Given the description of an element on the screen output the (x, y) to click on. 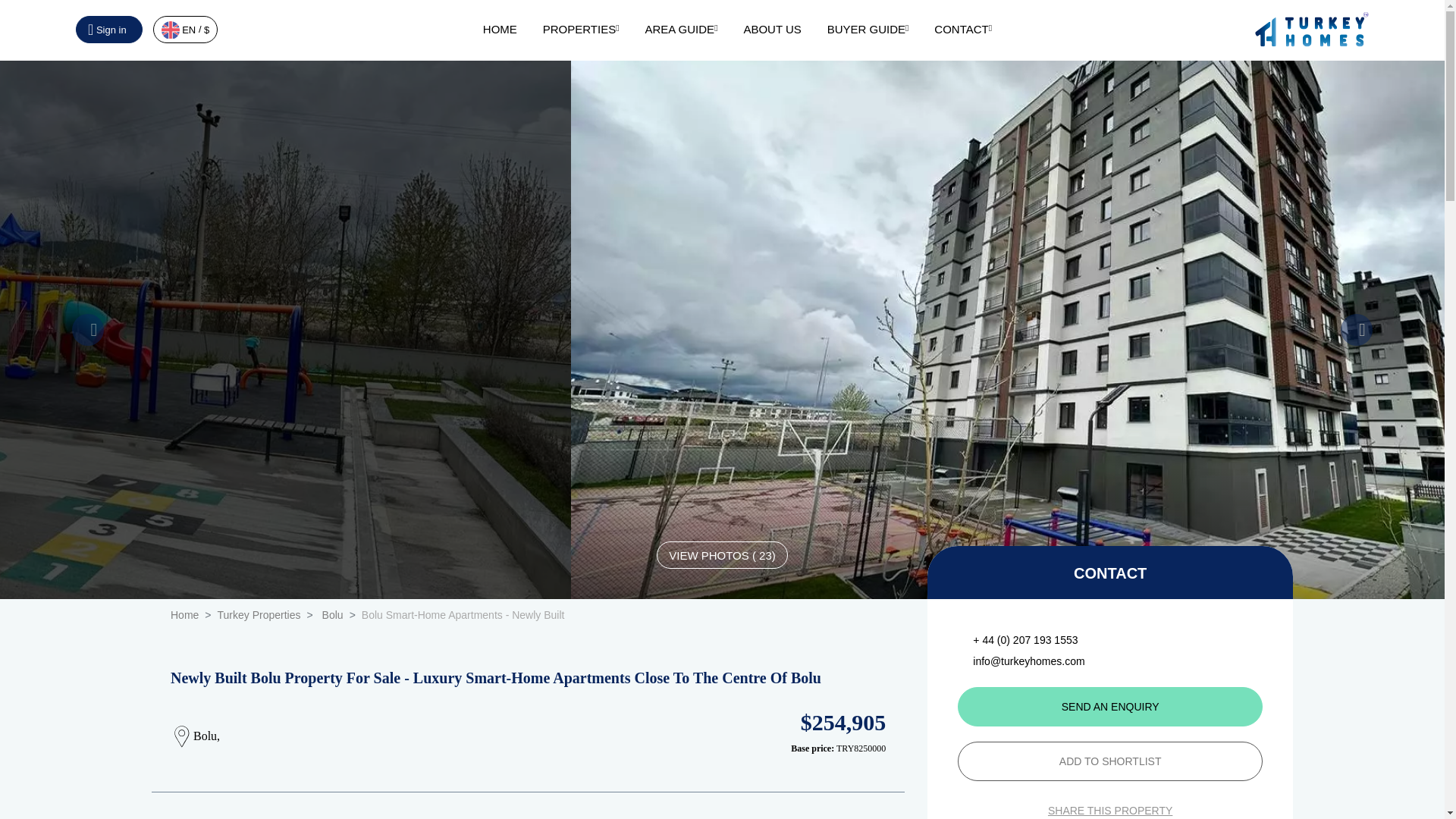
Sign in (108, 29)
ABOUT US (771, 28)
HOME (499, 28)
PROPERTIES (581, 28)
BUYER GUIDE (867, 28)
AREA GUIDE (681, 28)
